Given the description of an element on the screen output the (x, y) to click on. 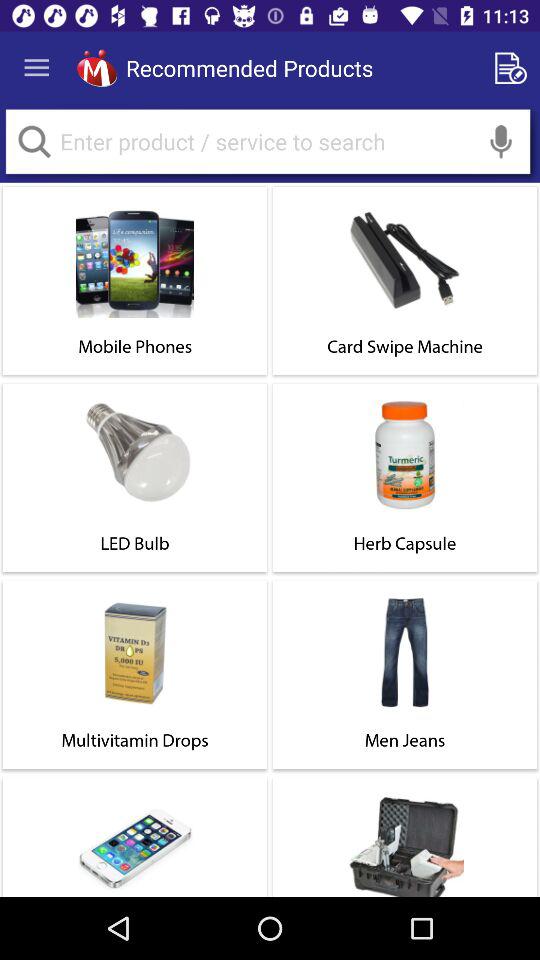
query search (267, 141)
